Given the description of an element on the screen output the (x, y) to click on. 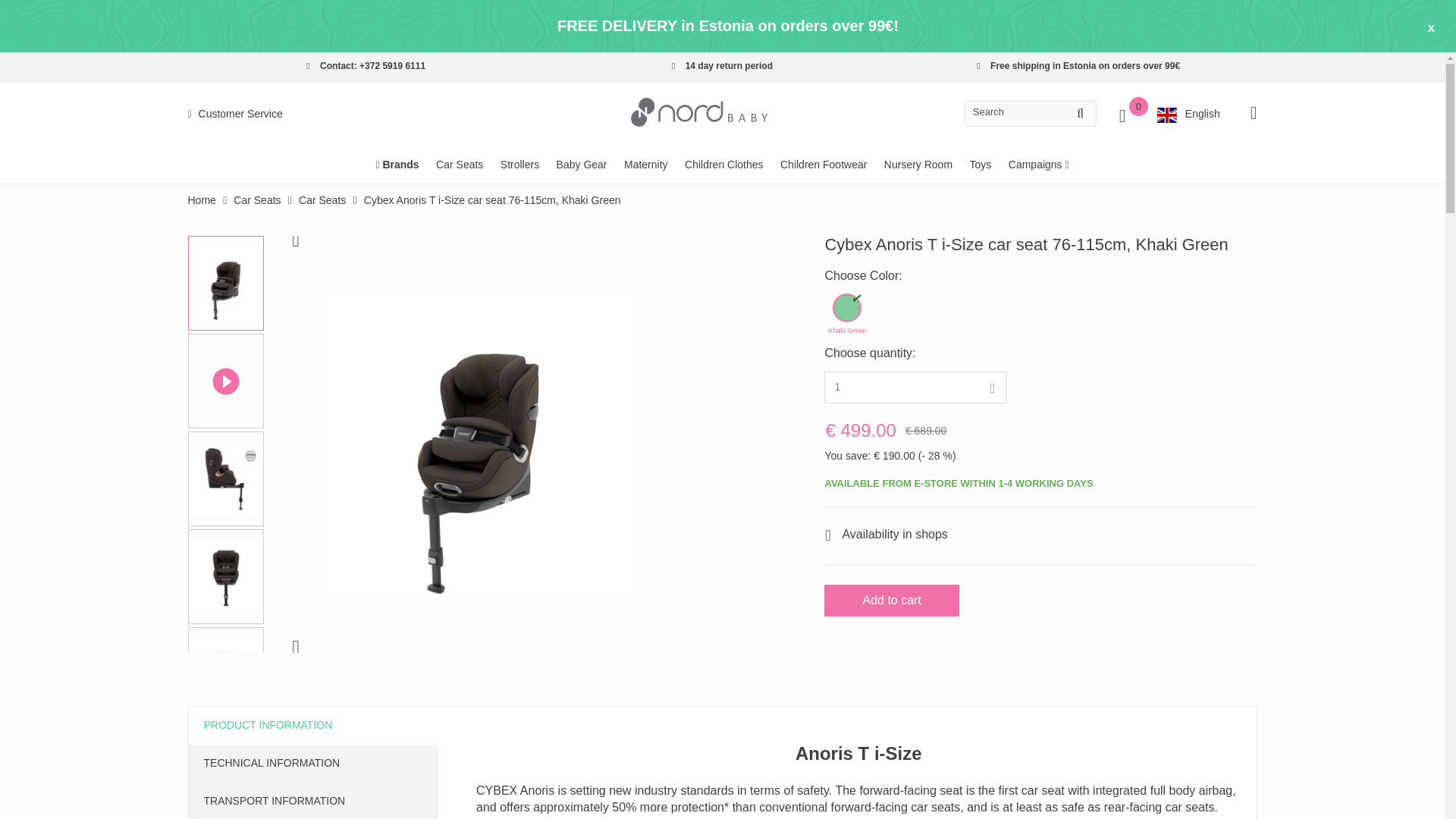
logo (698, 111)
Strollers (519, 164)
Brands (397, 164)
0 (1126, 110)
Baby Gear (581, 164)
x (1431, 28)
Customer Service (234, 114)
Maternity (646, 164)
14 day return period (722, 65)
Children Footwear (823, 164)
